Given the description of an element on the screen output the (x, y) to click on. 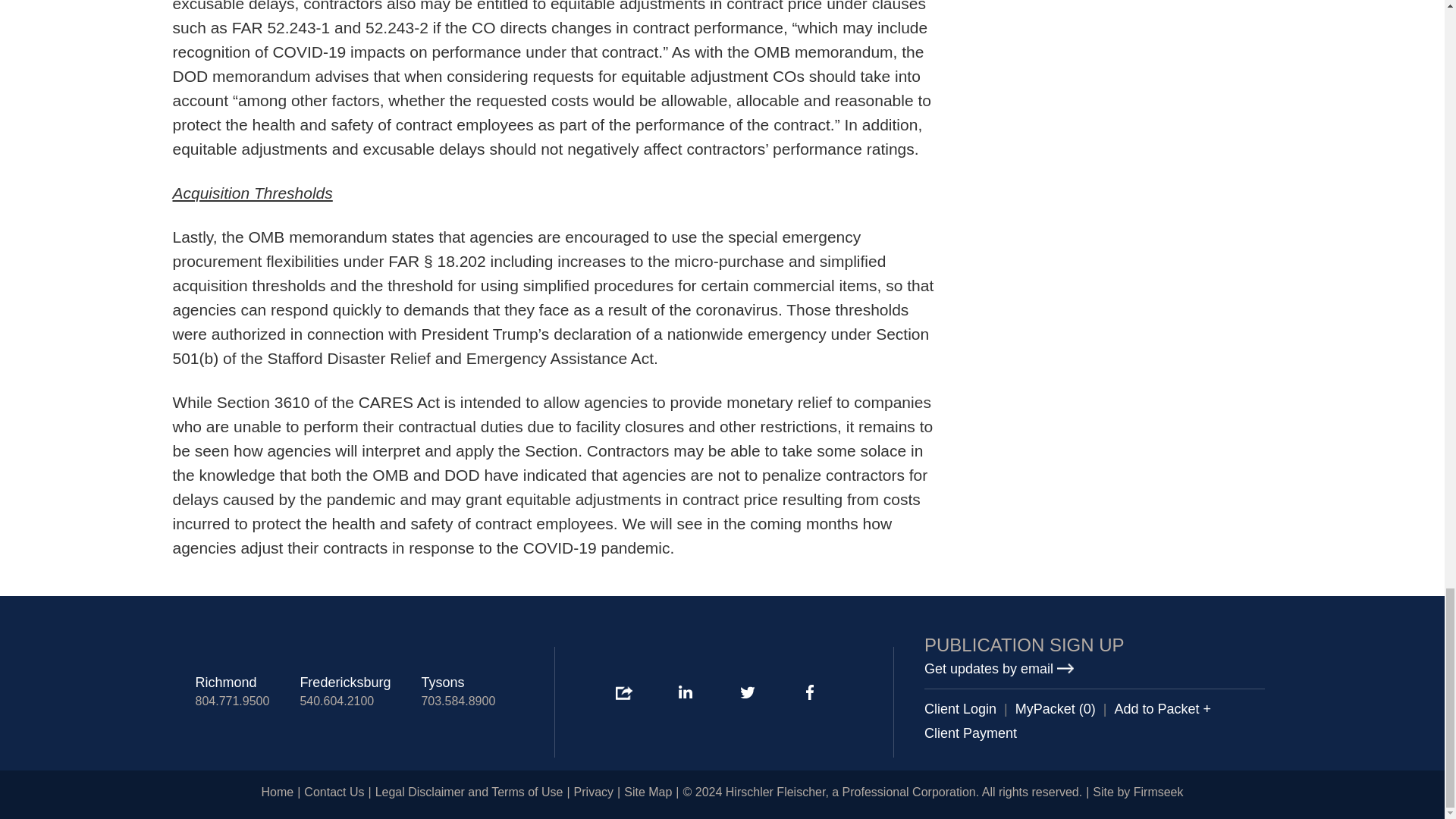
Share (622, 692)
